Given the description of an element on the screen output the (x, y) to click on. 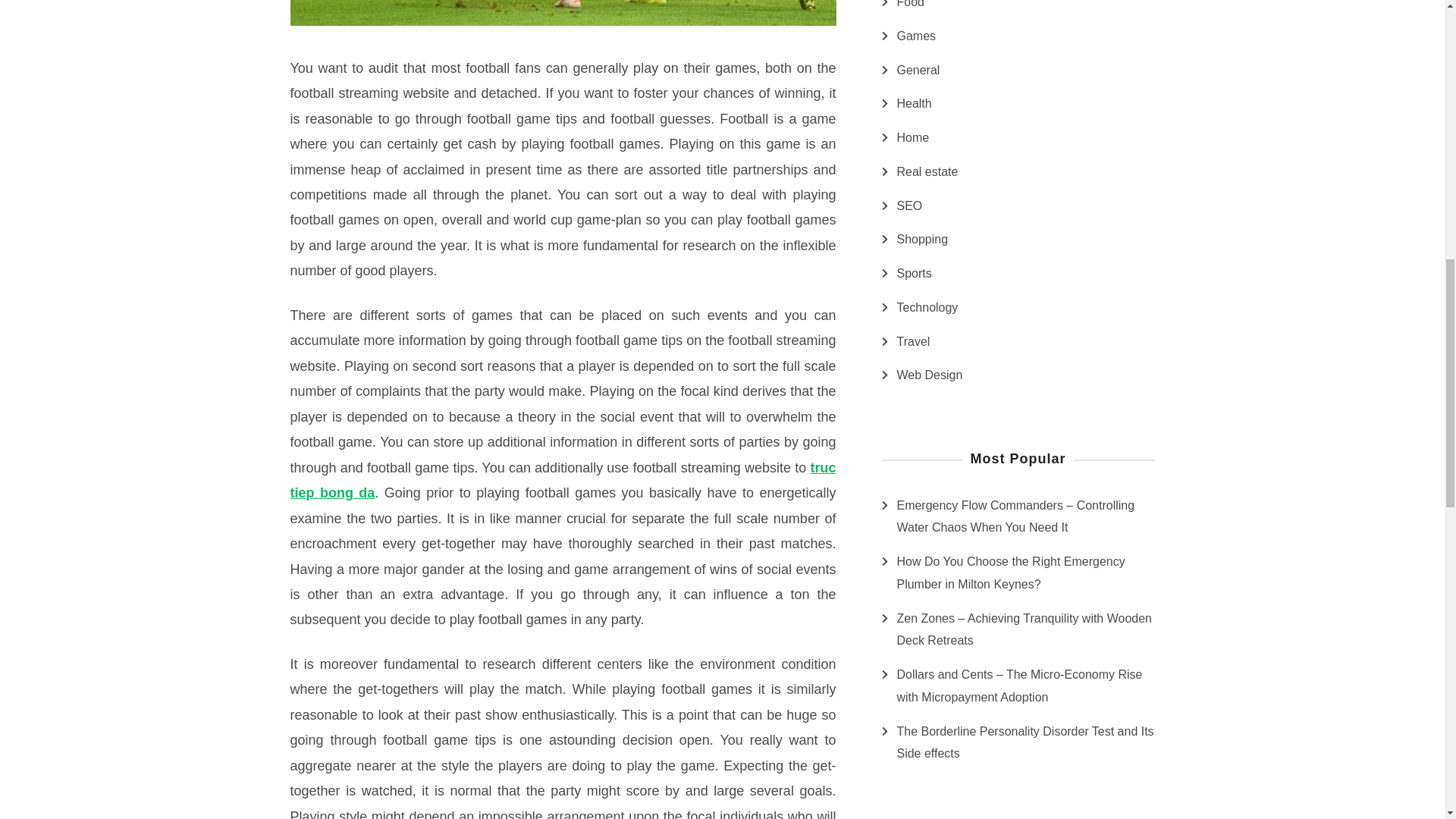
Web Design (929, 374)
Health (913, 103)
Sports (913, 273)
Technology (927, 307)
Real estate (927, 171)
Home (912, 137)
Games (916, 36)
General (917, 69)
truc tiep bong da (562, 480)
Shopping (921, 239)
Food (909, 6)
Travel (913, 341)
SEO (908, 205)
